Given the description of an element on the screen output the (x, y) to click on. 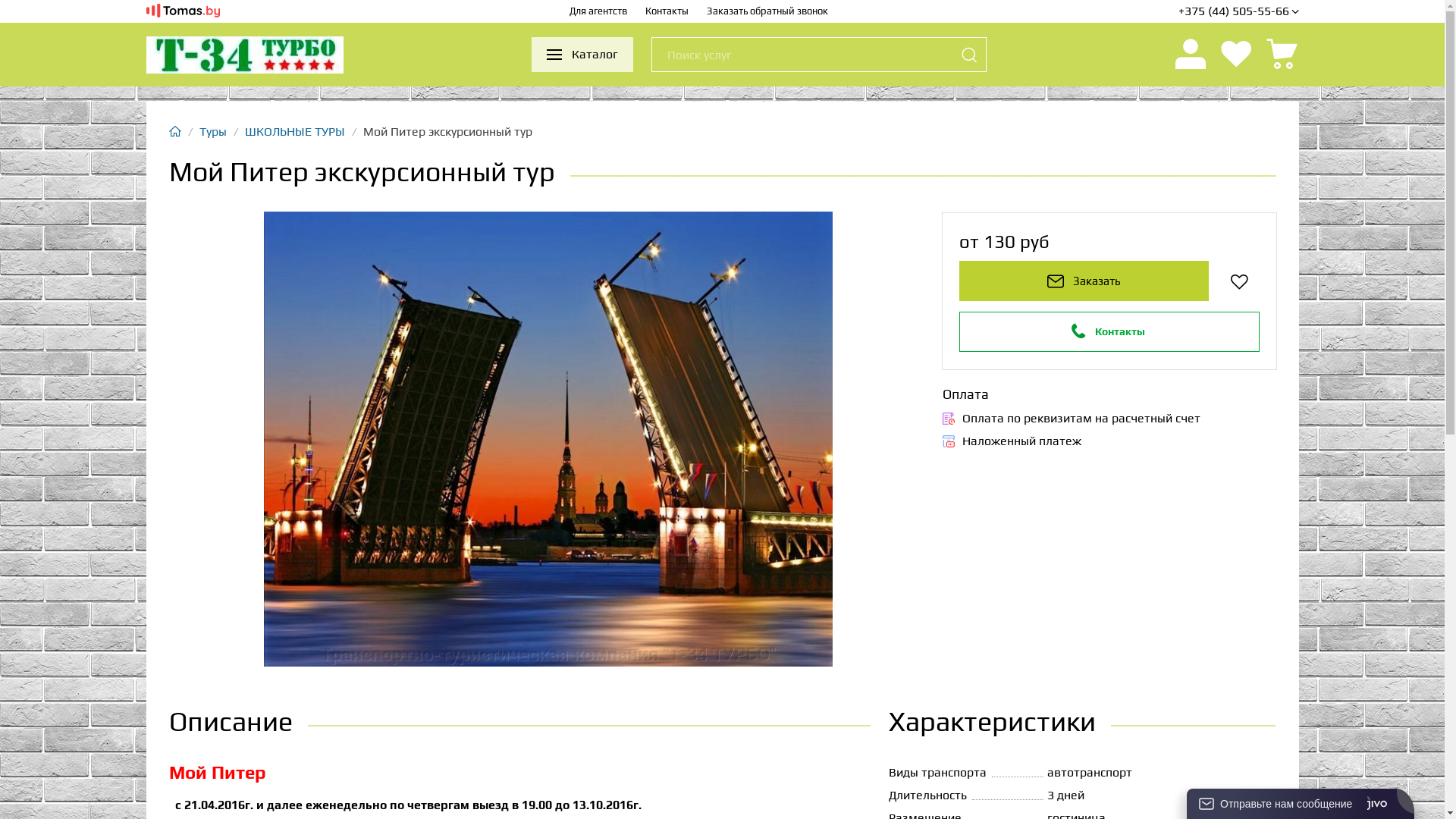
+375 (44) 505-55-66 Element type: text (1238, 10)
